Given the description of an element on the screen output the (x, y) to click on. 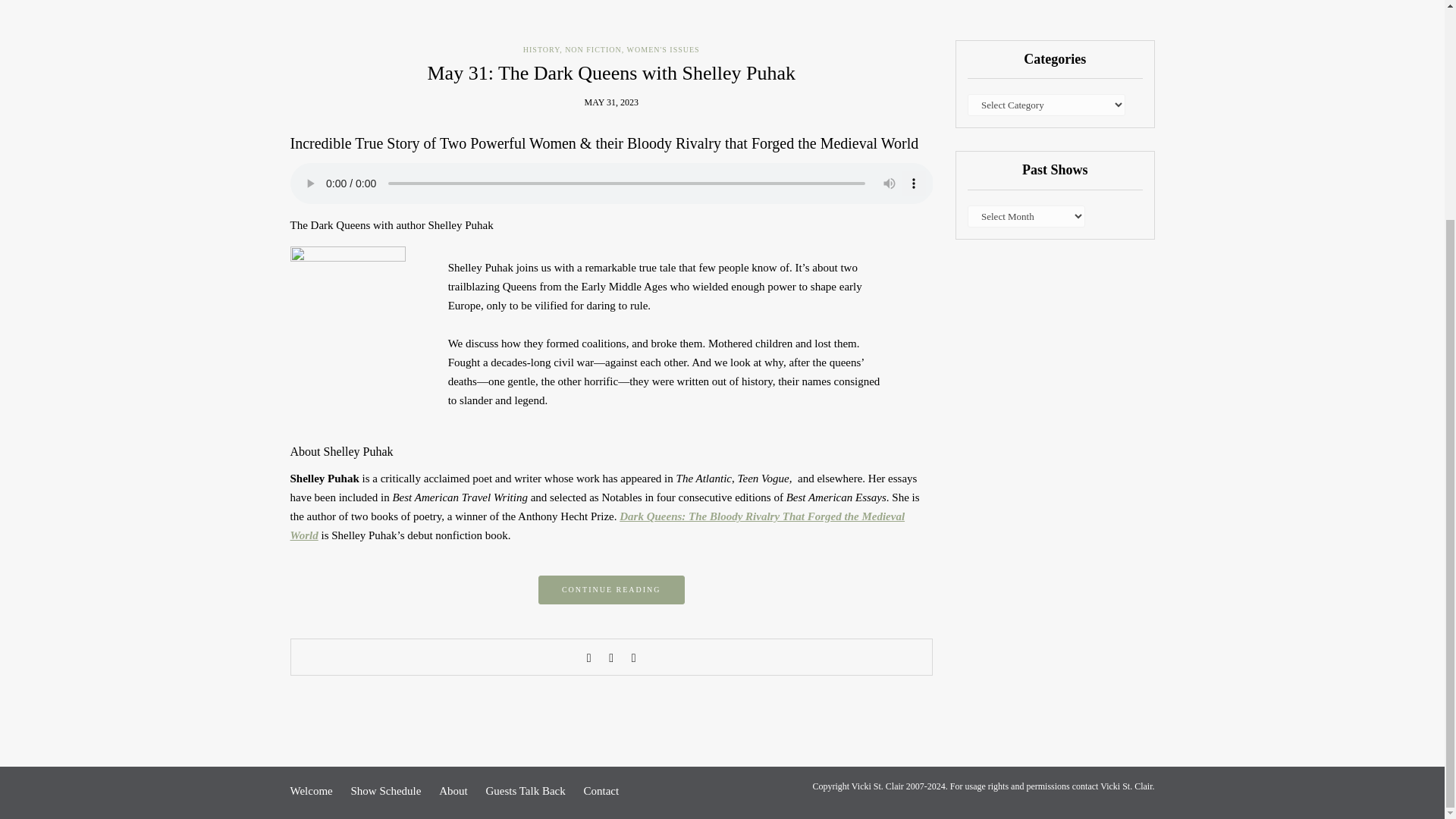
NON FICTION (592, 49)
May 31: The Dark Queens with Shelley Puhak (612, 73)
Tweet this (611, 657)
HISTORY (540, 49)
CONTINUE READING (611, 589)
Guests Talk Back (524, 790)
Pin this (633, 657)
WOMEN'S ISSUES (663, 49)
Share this (589, 657)
Show Schedule (386, 790)
About (453, 790)
Welcome (310, 790)
Contact (601, 790)
